Given the description of an element on the screen output the (x, y) to click on. 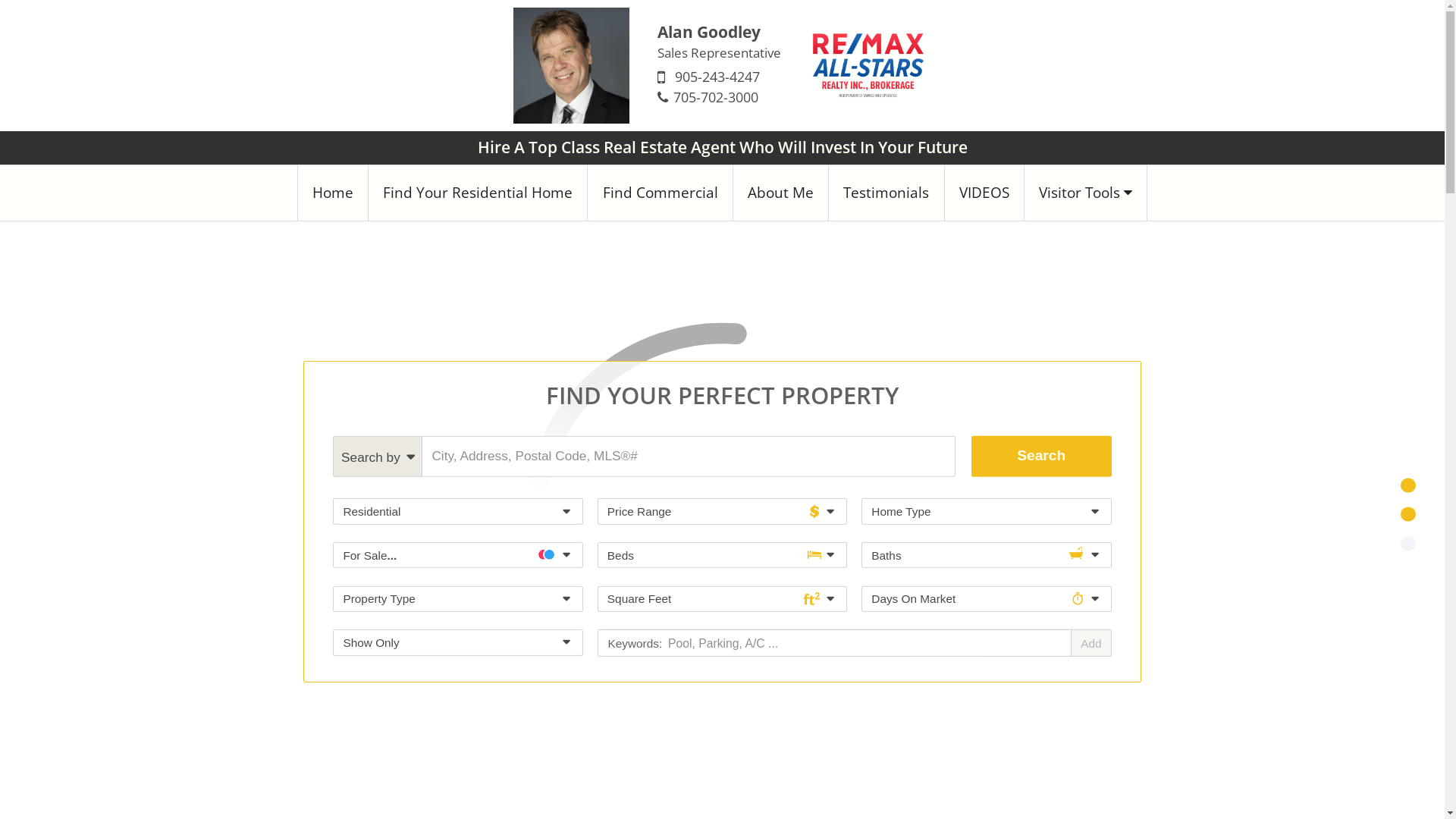
Home Element type: text (332, 192)
705-702-3000 Element type: text (715, 96)
Add Element type: text (1090, 642)
Residential Element type: text (457, 511)
About Me Element type: text (780, 192)
Price Range Element type: text (722, 511)
Beds Element type: text (722, 555)
Testimonials Element type: text (886, 192)
Search Element type: text (1041, 456)
3 Element type: text (1407, 543)
Find Your Residential Home Element type: text (477, 192)
Let's Begin the Search for Your Dream Home Element type: text (722, 789)
VIDEOS Element type: text (984, 192)
Show Only Element type: text (457, 642)
For Sale... Element type: text (457, 555)
2 Element type: text (1407, 514)
Find Commercial Element type: text (659, 192)
Days On Market Element type: text (985, 598)
Square Feet Element type: text (722, 598)
Property Type Element type: text (457, 598)
Baths Element type: text (985, 555)
Visitor Tools Element type: text (1085, 192)
905-243-4247 Element type: text (716, 76)
1 Element type: text (1407, 484)
Search by Element type: text (377, 456)
Home Type Element type: text (985, 511)
